Given the description of an element on the screen output the (x, y) to click on. 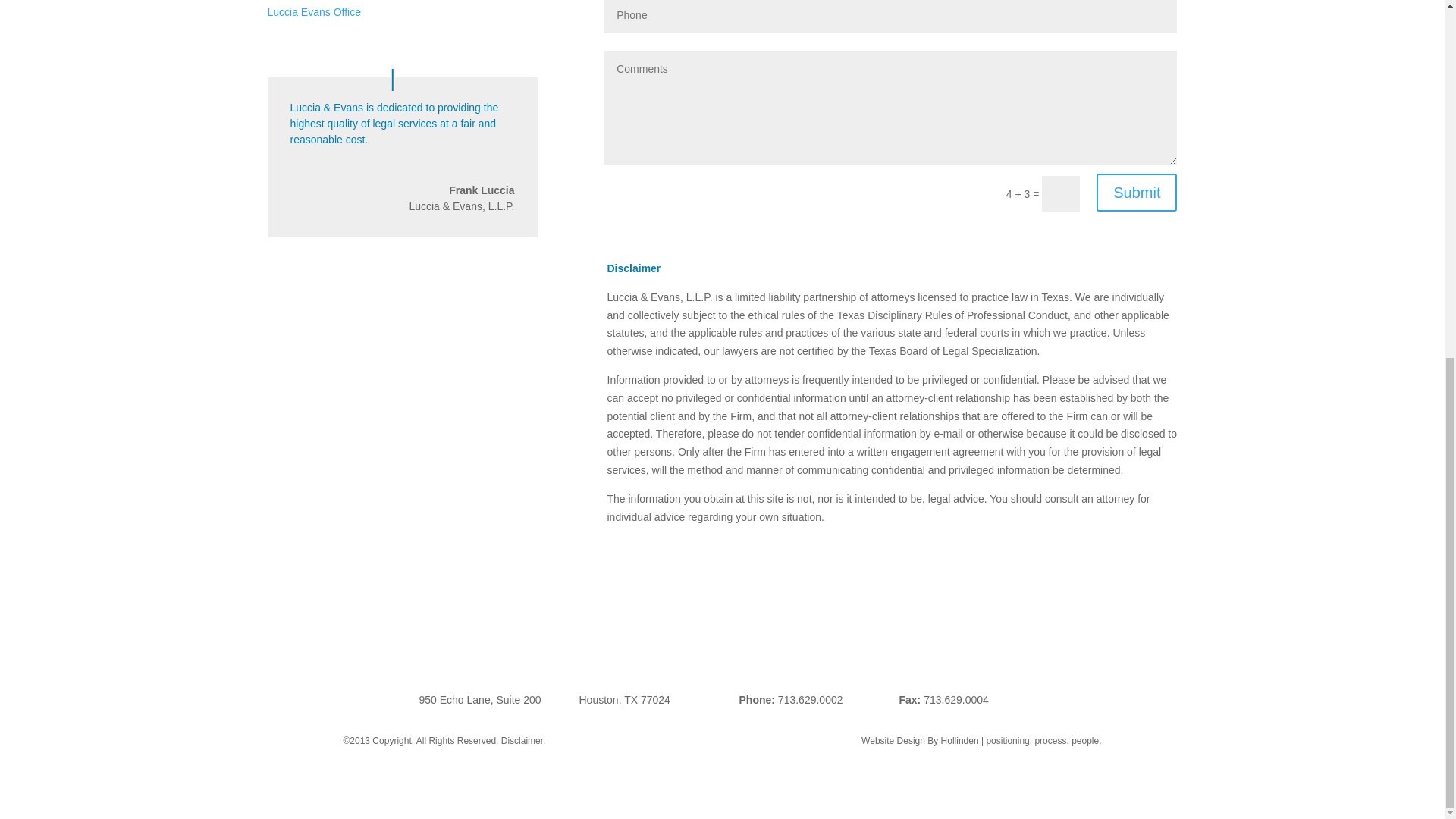
Submit (1136, 192)
Luccia Evans Office (312, 11)
